Given the description of an element on the screen output the (x, y) to click on. 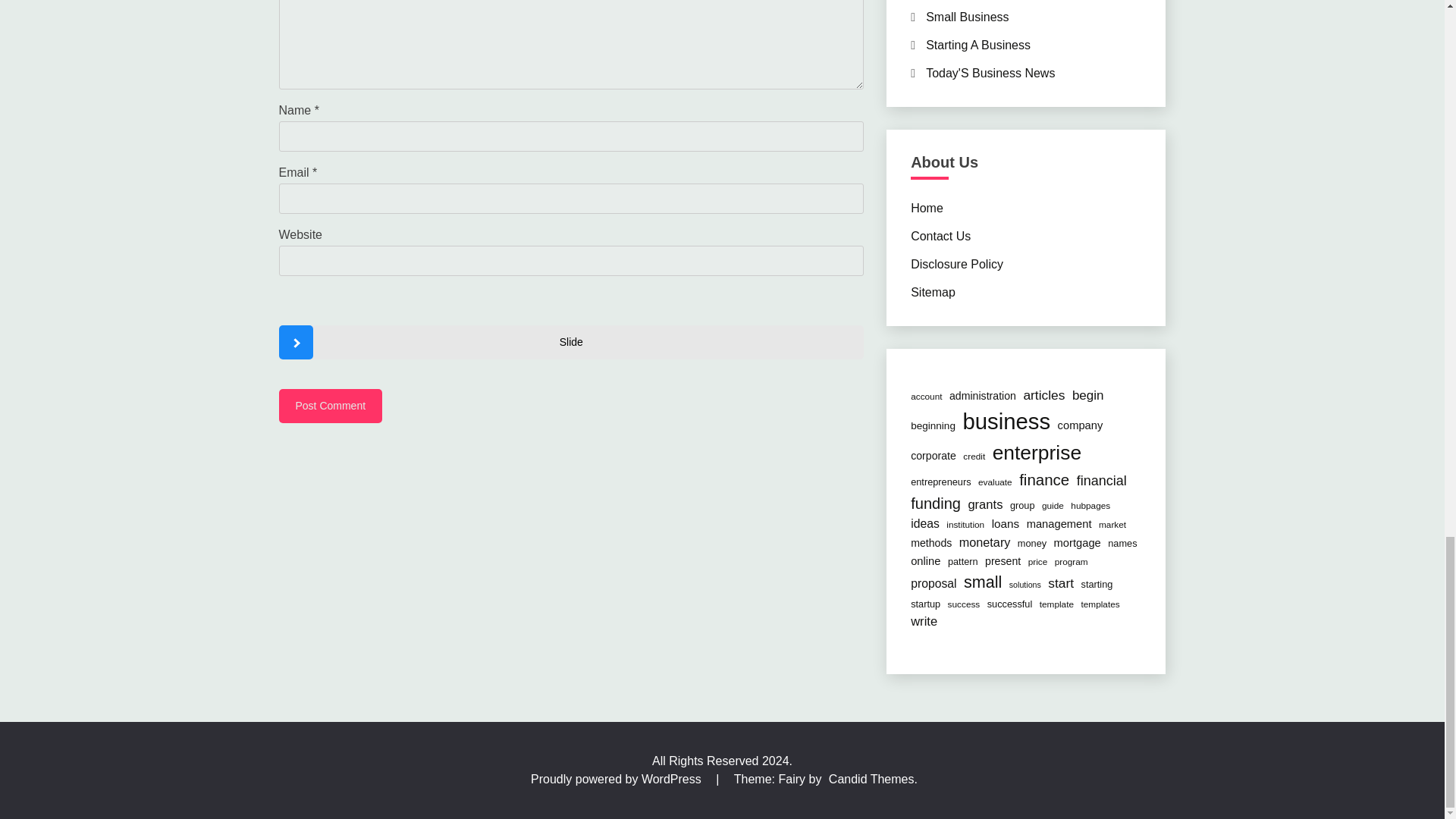
Post Comment (330, 406)
